Given the description of an element on the screen output the (x, y) to click on. 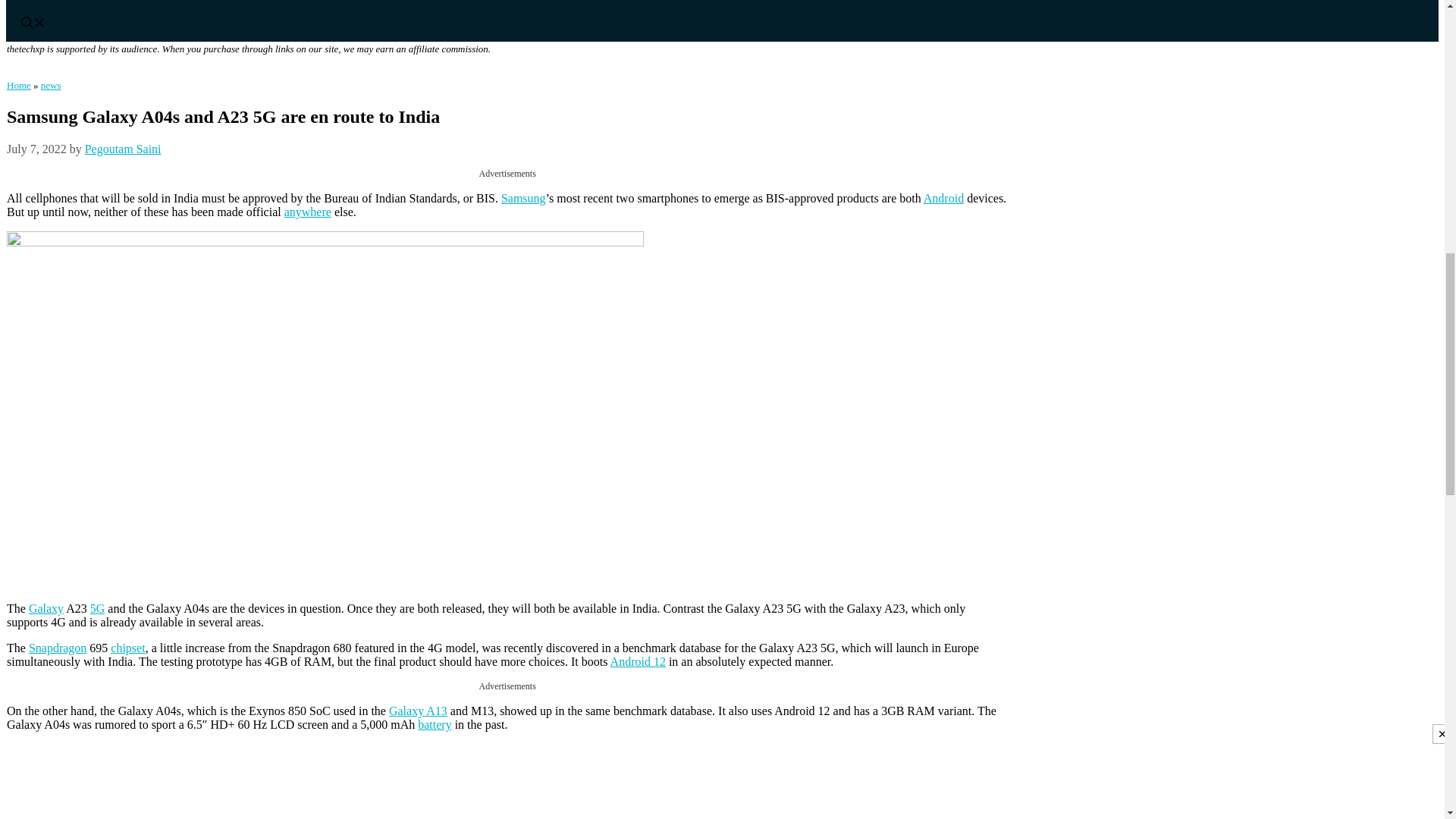
5G (97, 608)
news (50, 84)
chipset (127, 647)
Android 12 (637, 661)
Pegoutam Saini (122, 148)
Galaxy (46, 608)
Click to share on WhatsApp (49, 785)
Snapdragon (57, 647)
Click to share on Telegram (143, 785)
Click to share on Pinterest (111, 785)
